Given the description of an element on the screen output the (x, y) to click on. 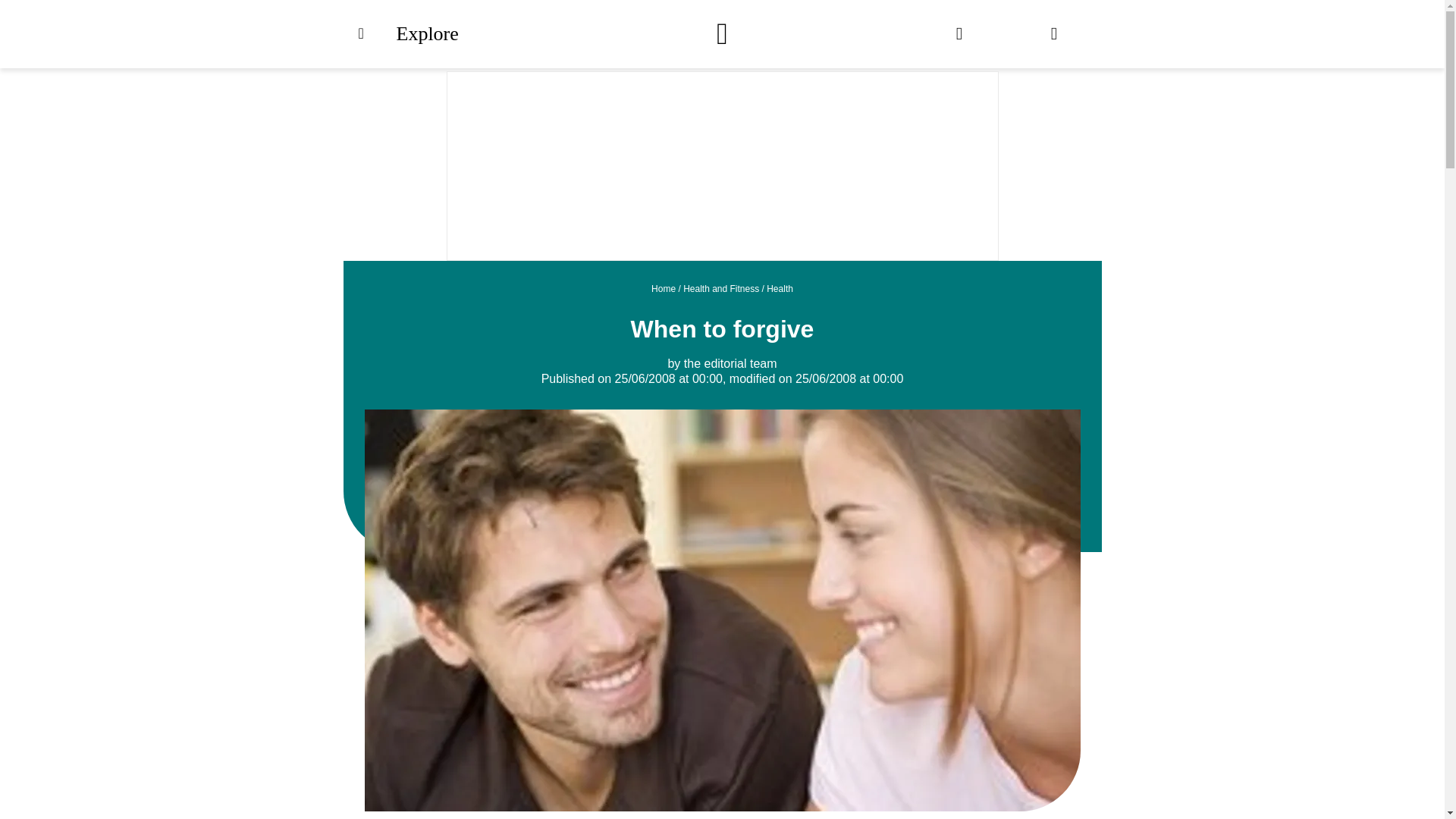
Health and Fitness (720, 288)
Health (780, 288)
Home (662, 288)
